Given the description of an element on the screen output the (x, y) to click on. 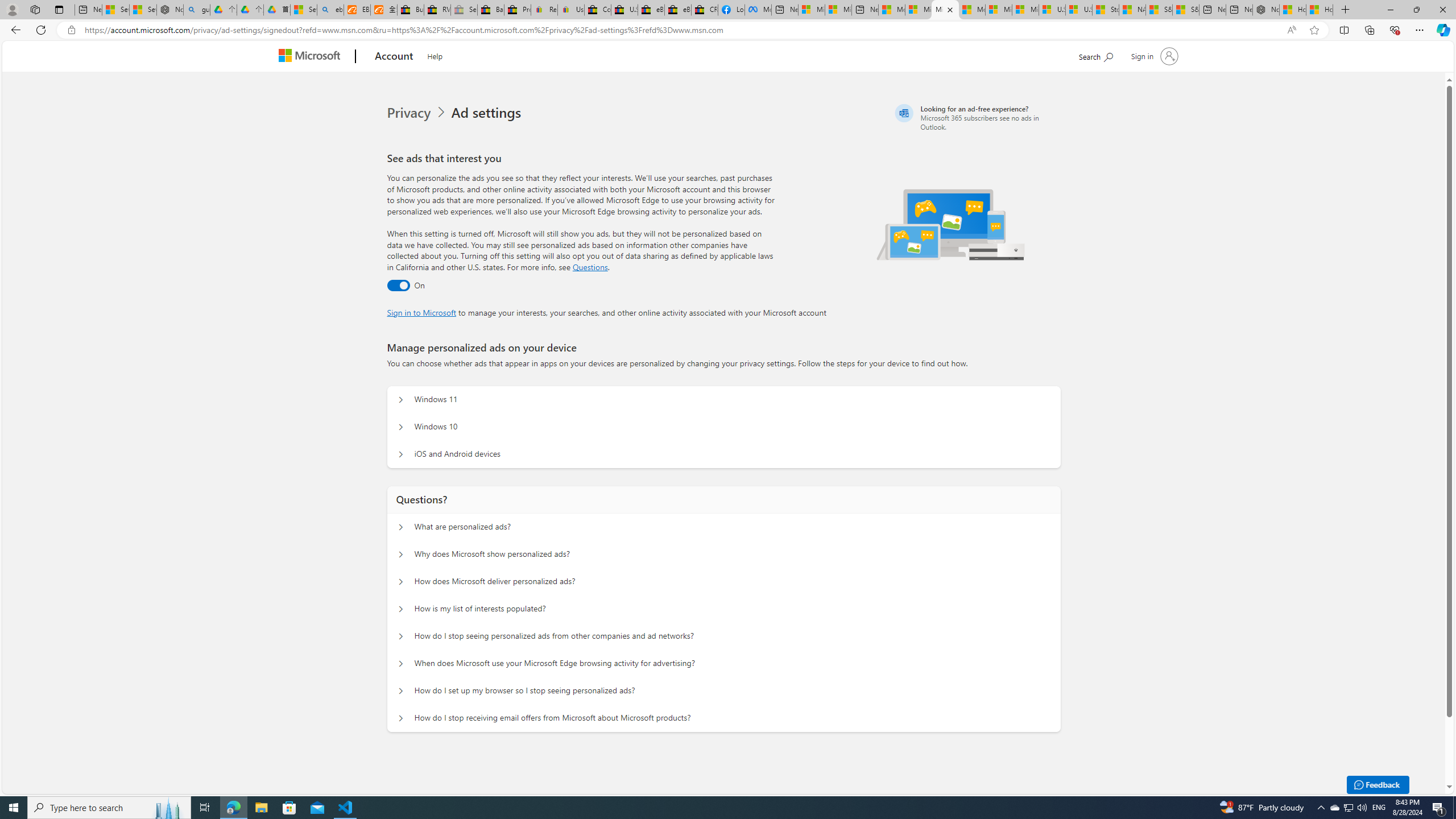
Help (435, 54)
eBay Inc. Reports Third Quarter 2023 Results (677, 9)
Illustration of multiple devices (951, 224)
Manage personalized ads on your device Windows 10 (401, 427)
Buy Auto Parts & Accessories | eBay (411, 9)
Questions? Why does Microsoft show personalized ads? (401, 554)
